Given the description of an element on the screen output the (x, y) to click on. 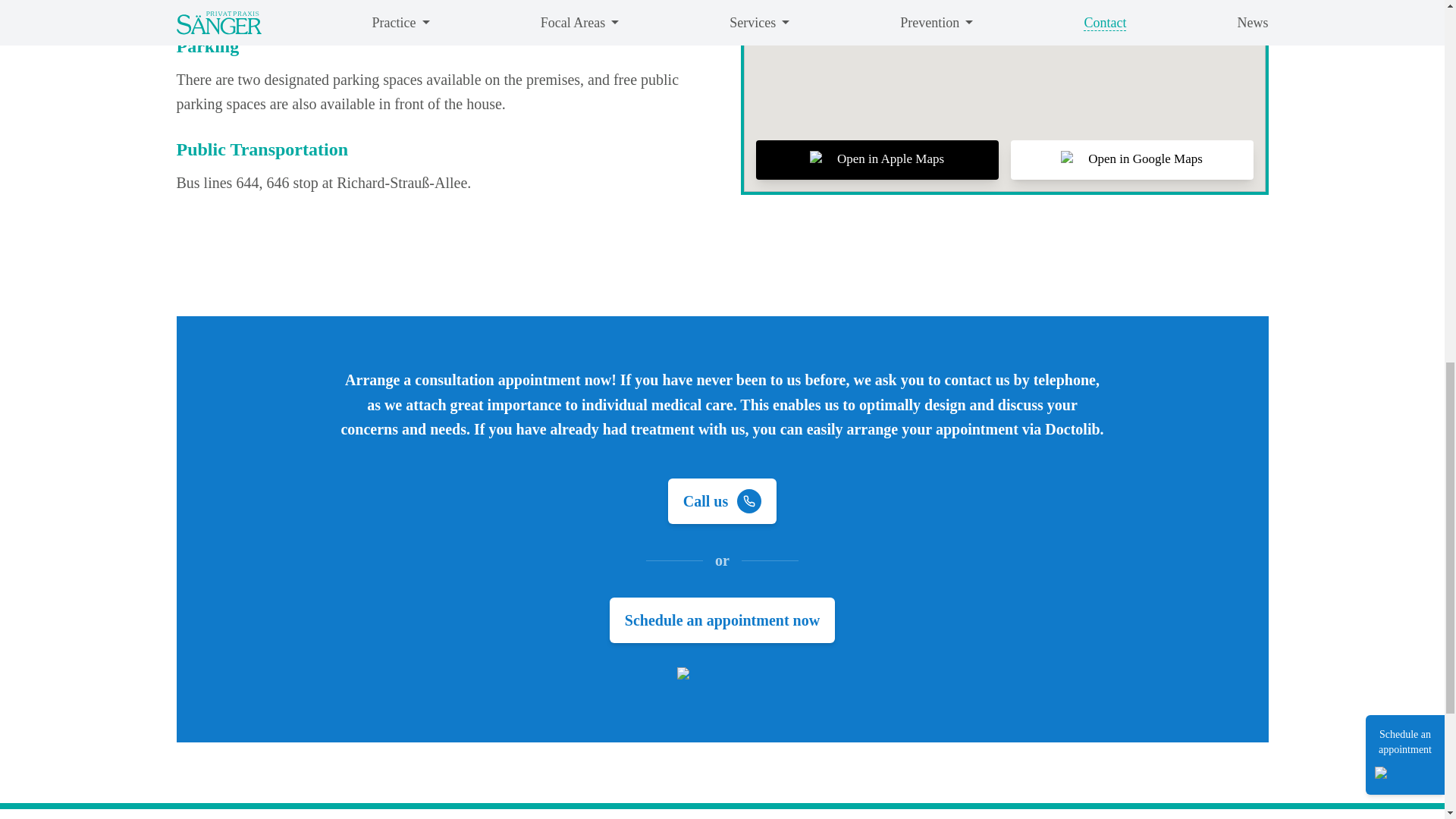
Call us (722, 501)
Schedule an appointment now (722, 620)
Open in Google Maps (1131, 159)
0202 . 898 38 117 (438, 4)
Open in Apple Maps (876, 159)
